Given the description of an element on the screen output the (x, y) to click on. 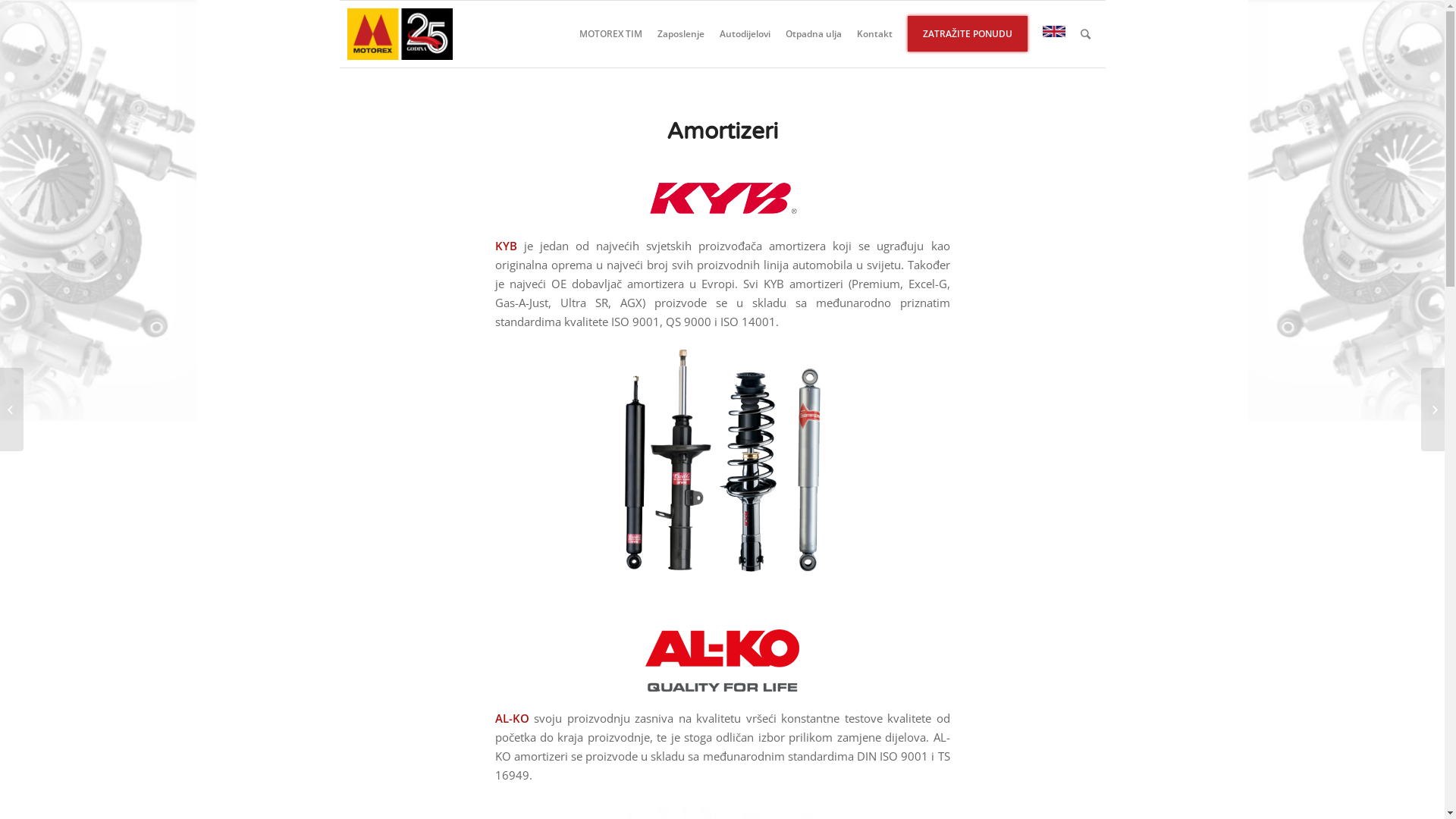
Kontakt Element type: text (874, 33)
Otpadna ulja Element type: text (813, 33)
Amortizeri Element type: text (722, 131)
Zaposlenje Element type: text (680, 33)
Autodijelovi Element type: text (744, 33)
MOTOREX TIM Element type: text (610, 33)
